Given the description of an element on the screen output the (x, y) to click on. 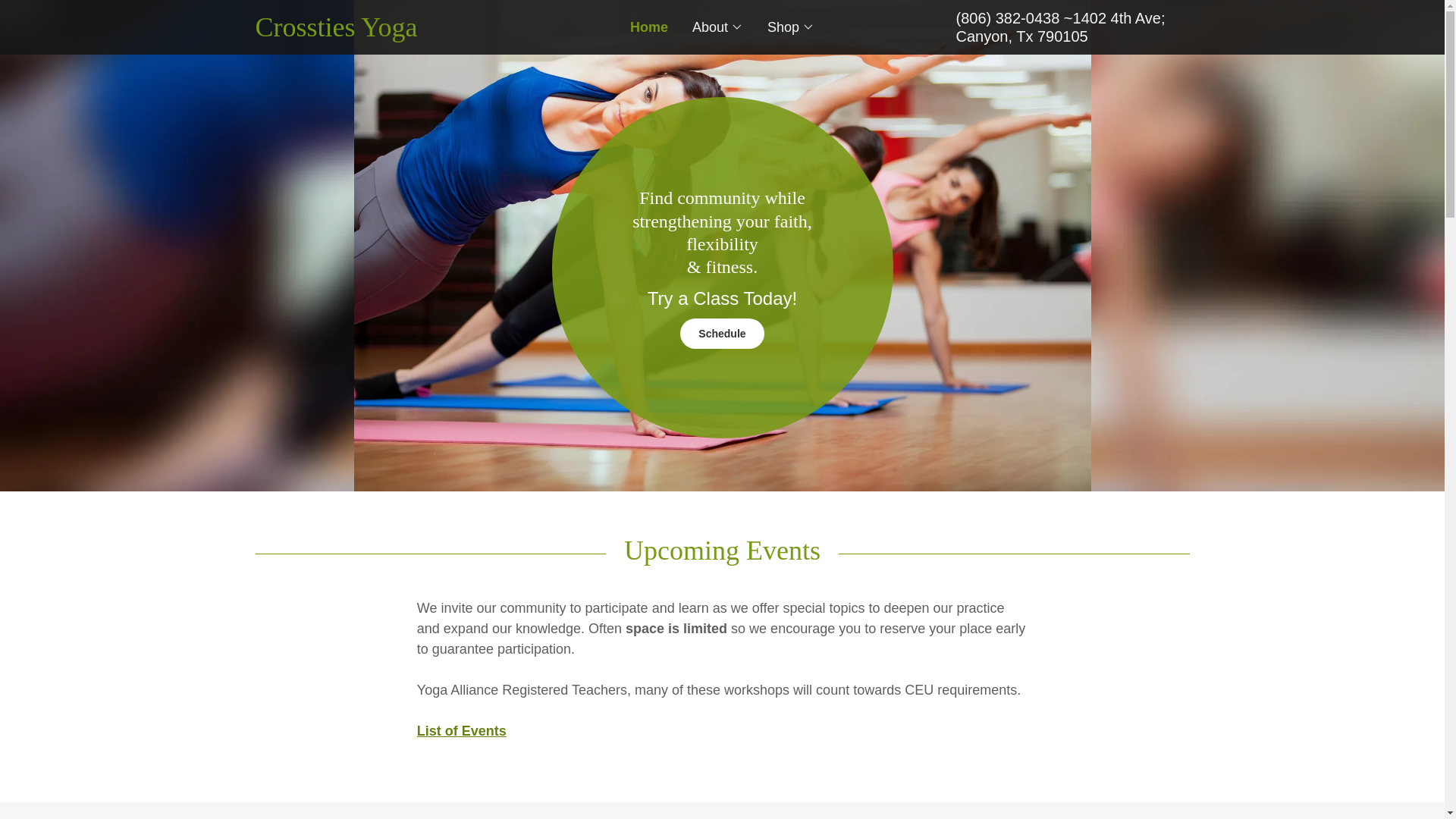
1402 4 (1096, 17)
790105 (1061, 36)
Home (649, 27)
Shop (790, 27)
Crossties Yoga (370, 31)
Crossties Yoga (370, 31)
About (717, 27)
